Given the description of an element on the screen output the (x, y) to click on. 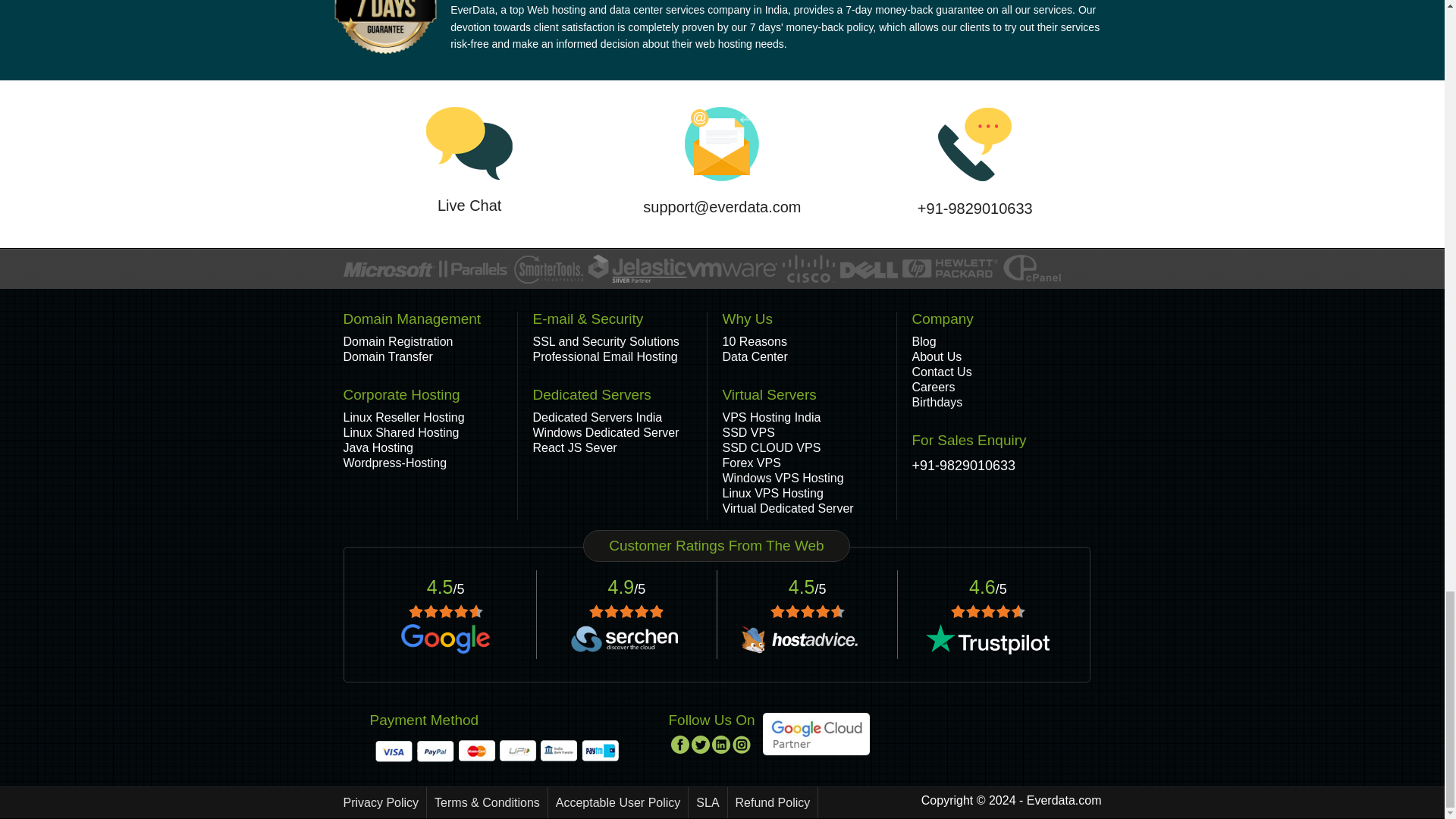
Colocation (387, 356)
Privacy Policy (384, 802)
Application Hosting (397, 341)
Contact Us (941, 371)
Linux Reseller Hosting (403, 417)
Acceptable Use Policy (618, 802)
